Given the description of an element on the screen output the (x, y) to click on. 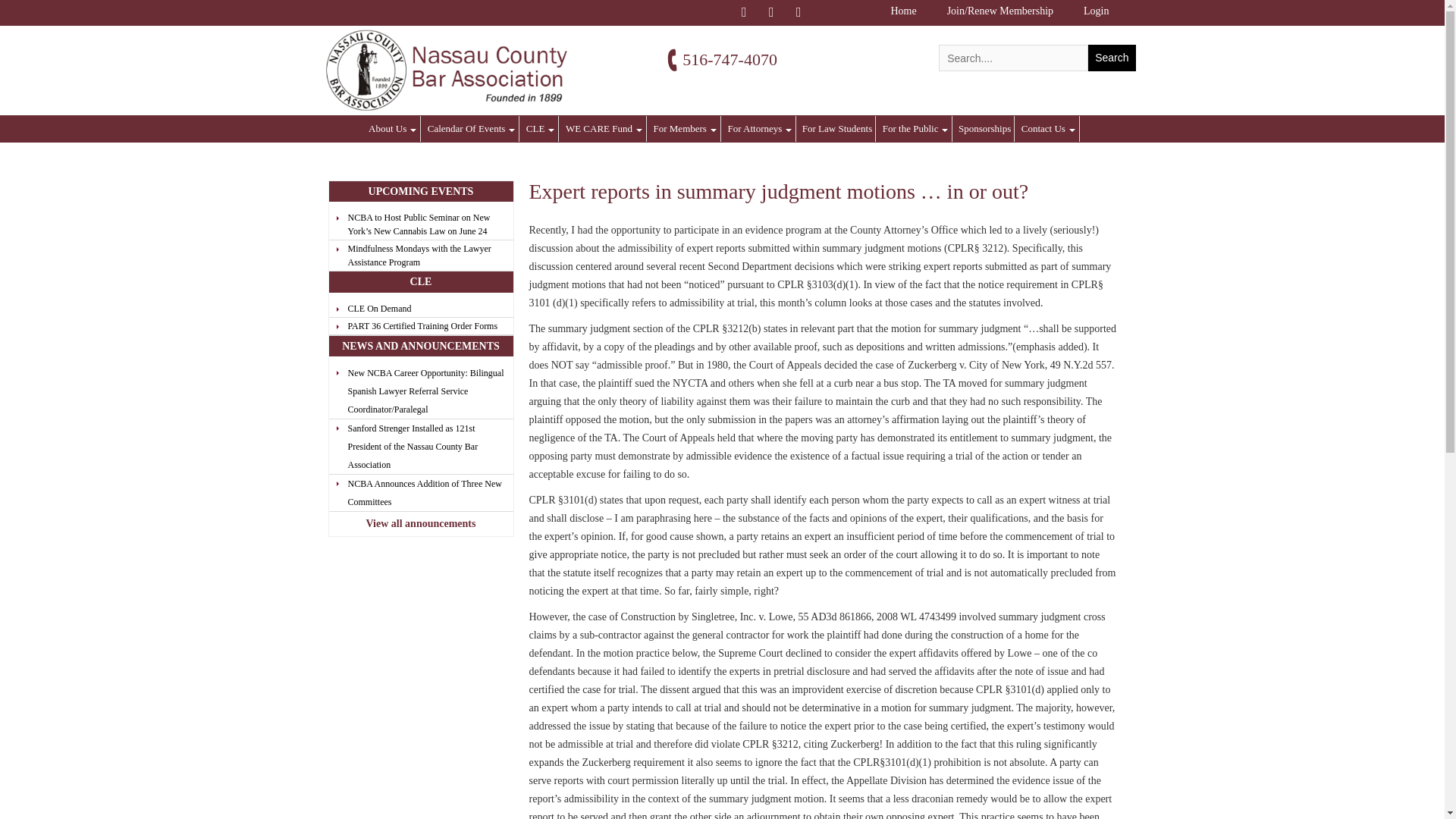
Login (1096, 11)
516-747-4070 (729, 58)
Calendar Of Events (471, 128)
CLE (540, 128)
Home (903, 11)
For Members (684, 128)
Search (1111, 58)
WE CARE Fund (604, 128)
Search (1111, 58)
About Us (392, 128)
